Given the description of an element on the screen output the (x, y) to click on. 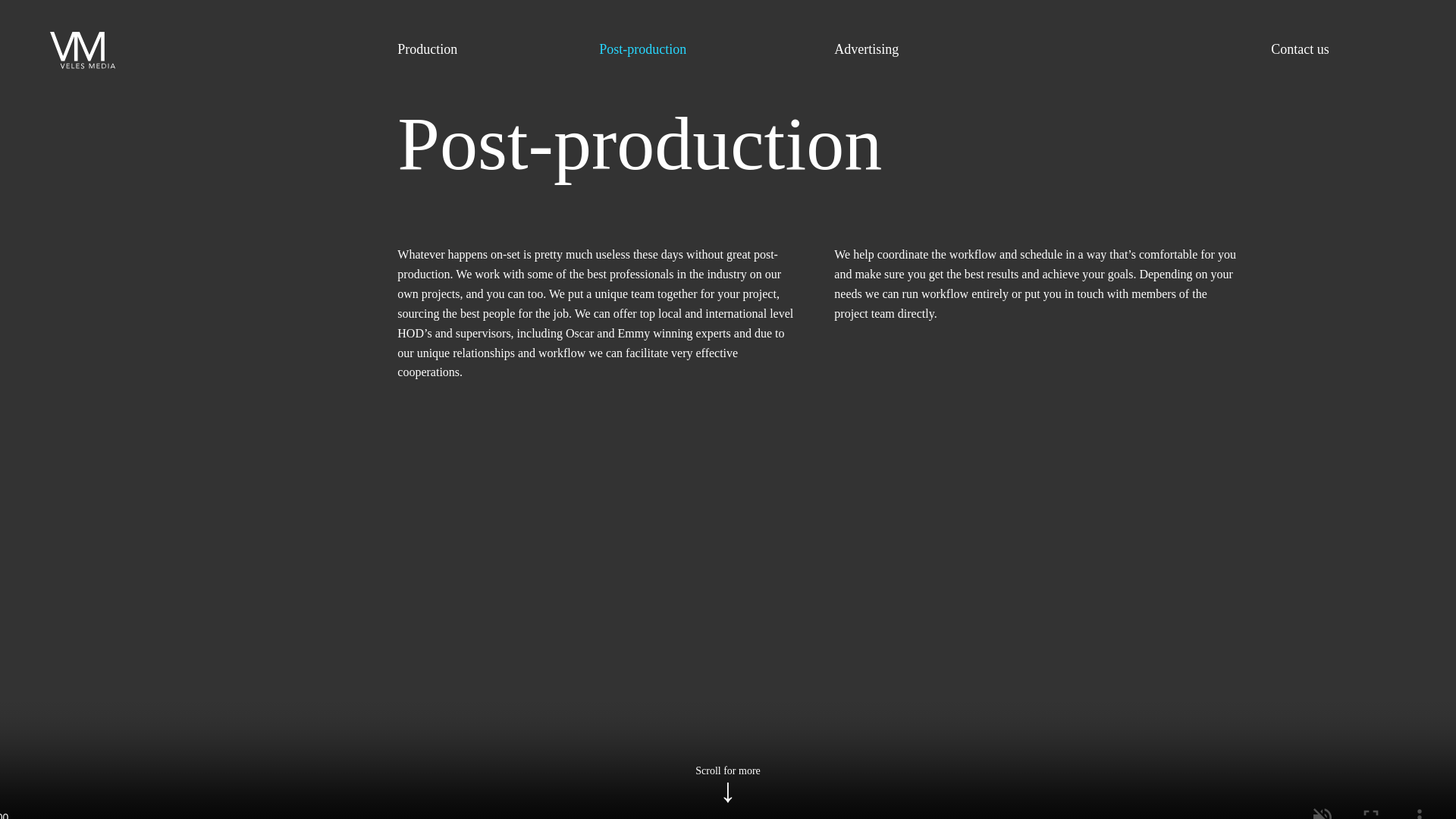
Advertising (866, 50)
Post-production (641, 50)
Contact us (1300, 50)
Production (427, 50)
